Given the description of an element on the screen output the (x, y) to click on. 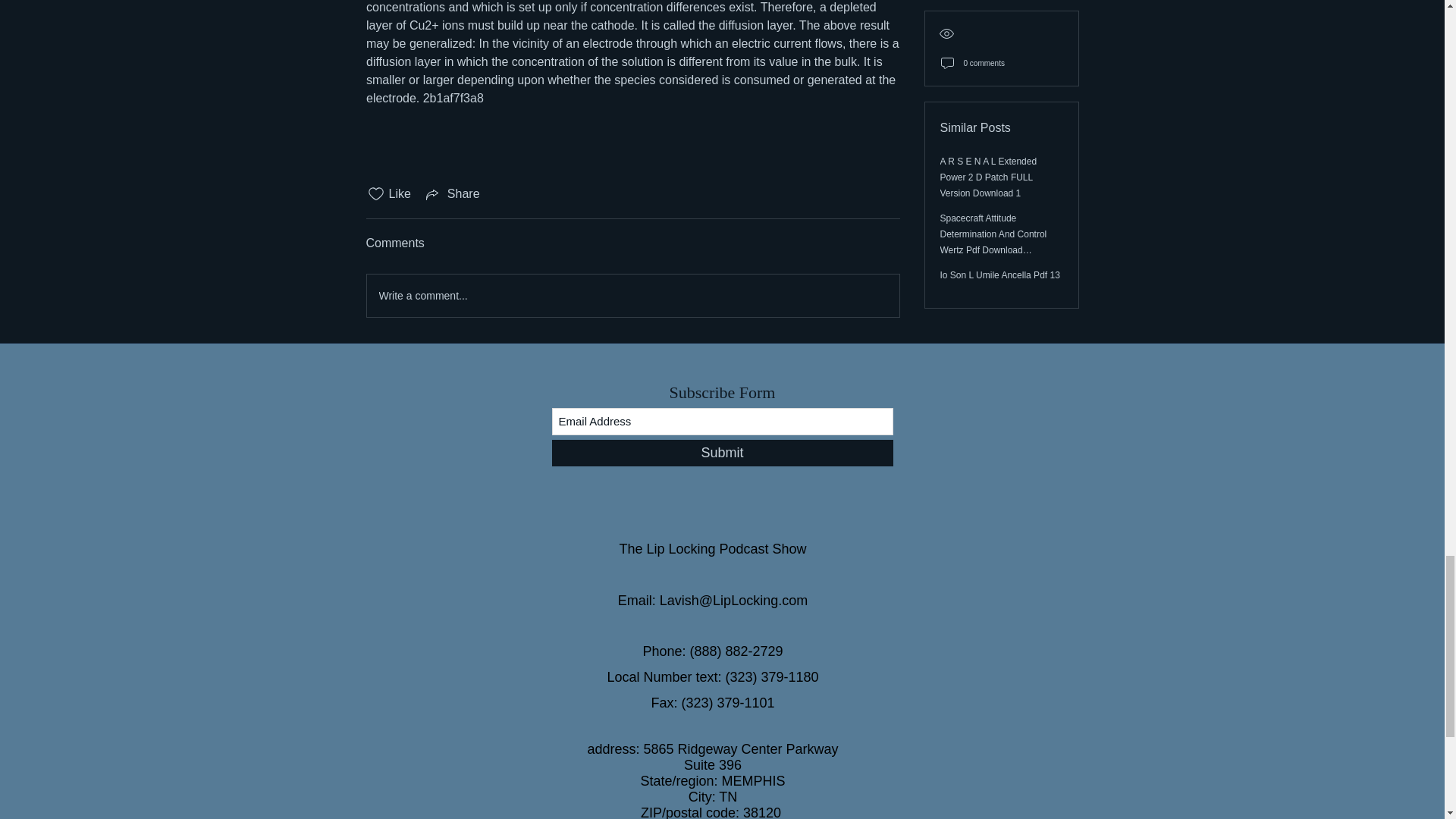
Write a comment... (632, 295)
Submit (722, 452)
Share (451, 194)
